Given the description of an element on the screen output the (x, y) to click on. 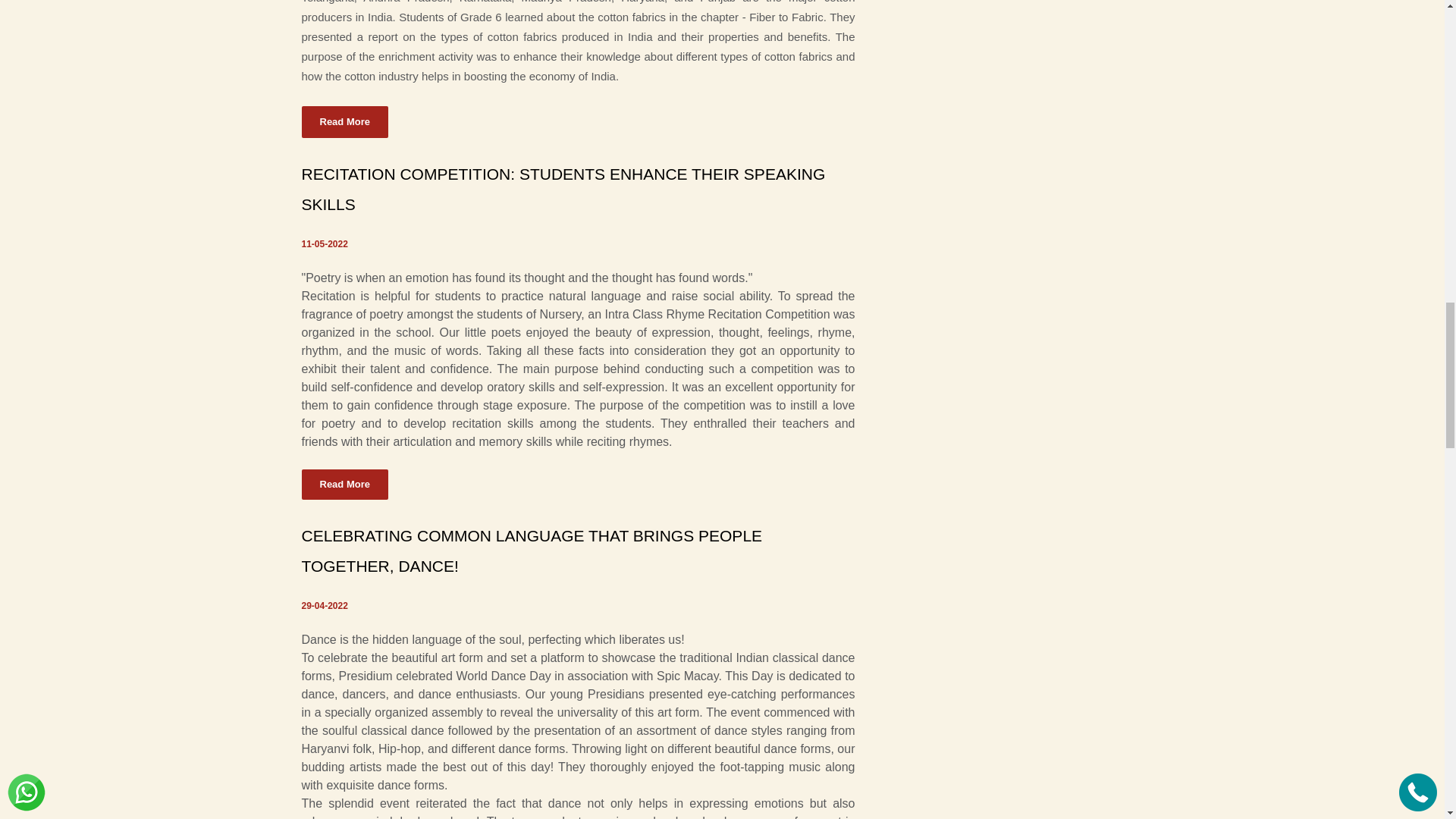
Read More (344, 122)
